Given the description of an element on the screen output the (x, y) to click on. 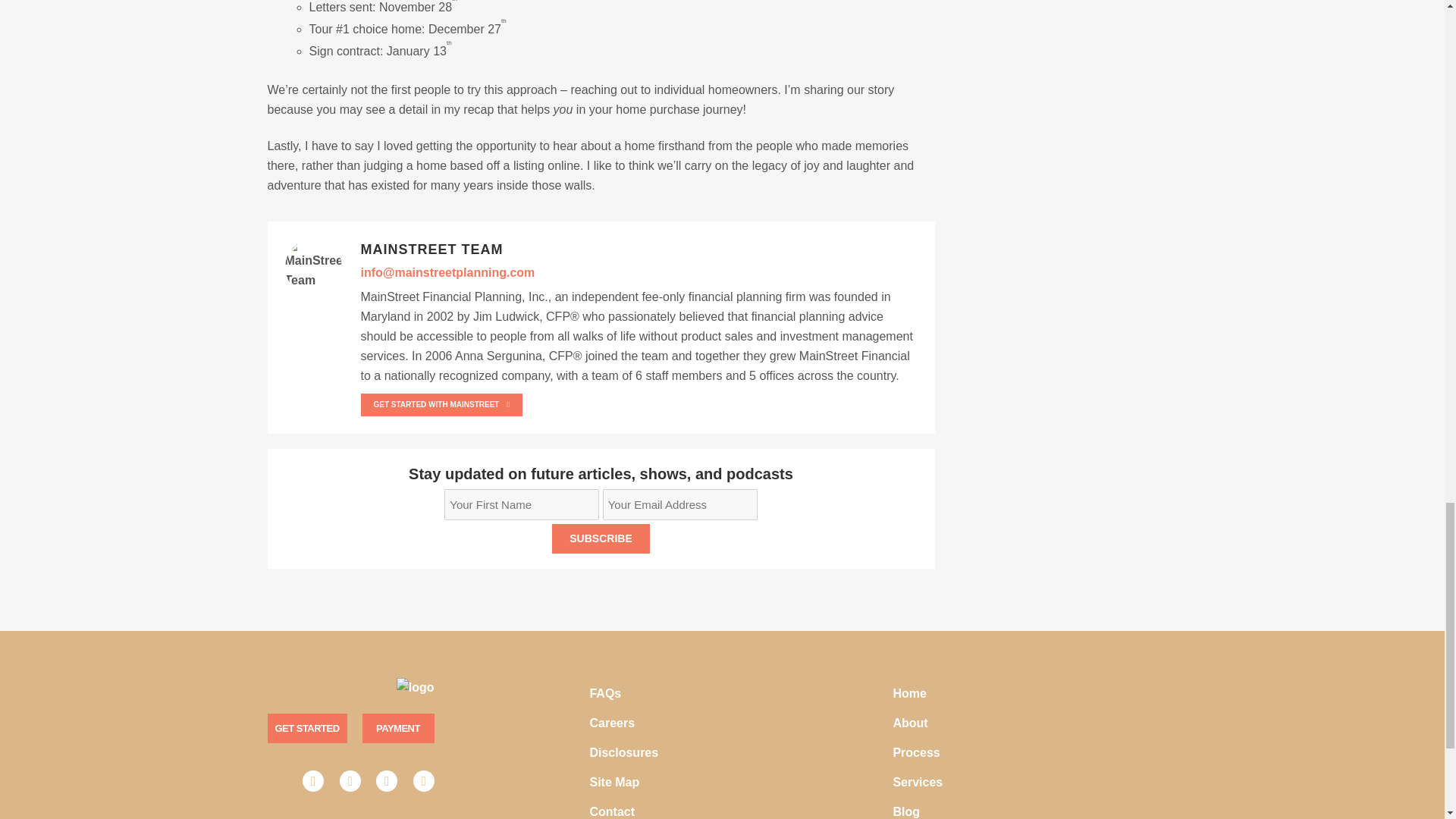
Subscribe (600, 538)
